Given the description of an element on the screen output the (x, y) to click on. 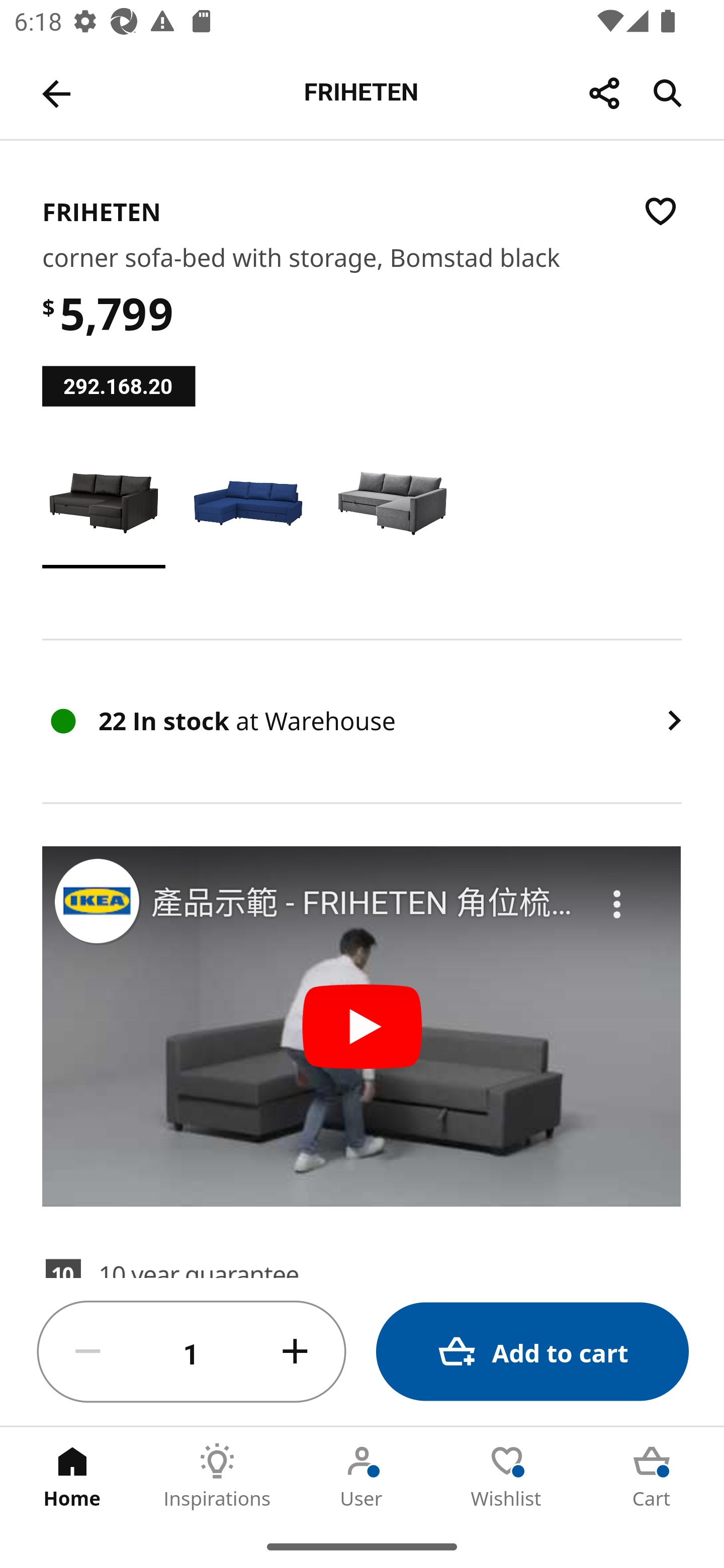
22 In stock at Warehouse (361, 720)
Add to cart (531, 1352)
1 (191, 1352)
Home
Tab 1 of 5 (72, 1476)
Inspirations
Tab 2 of 5 (216, 1476)
User
Tab 3 of 5 (361, 1476)
Wishlist
Tab 4 of 5 (506, 1476)
Cart
Tab 5 of 5 (651, 1476)
